Given the description of an element on the screen output the (x, y) to click on. 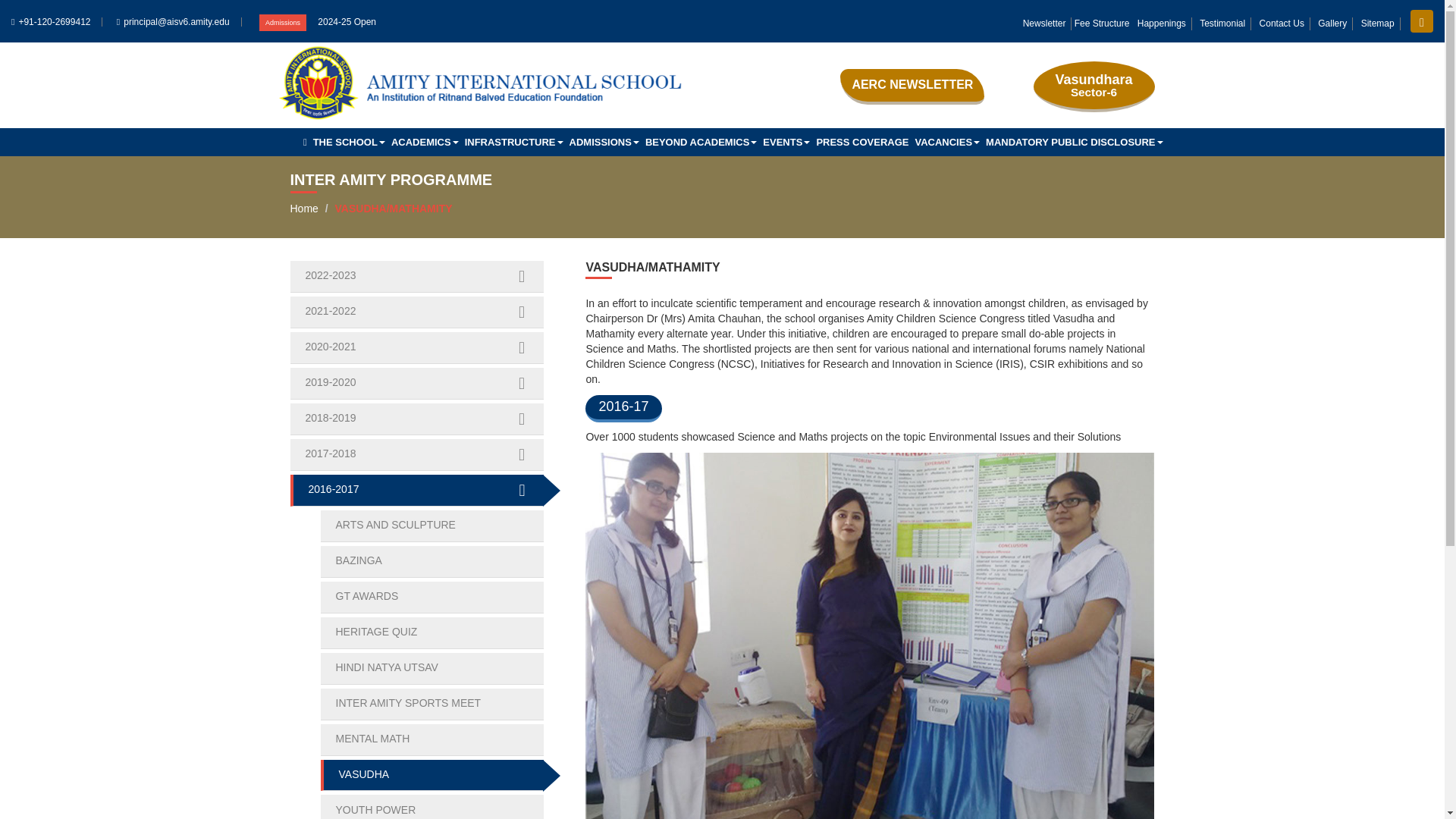
Admissions (282, 22)
Sitemap (1377, 23)
ACADEMICS (424, 141)
INFRASTRUCTURE (513, 141)
Contact Us (1281, 23)
Happenings (1162, 23)
Testimonial (1221, 23)
Newsletter (1044, 23)
THE SCHOOL (349, 141)
Gallery (1332, 23)
